Given the description of an element on the screen output the (x, y) to click on. 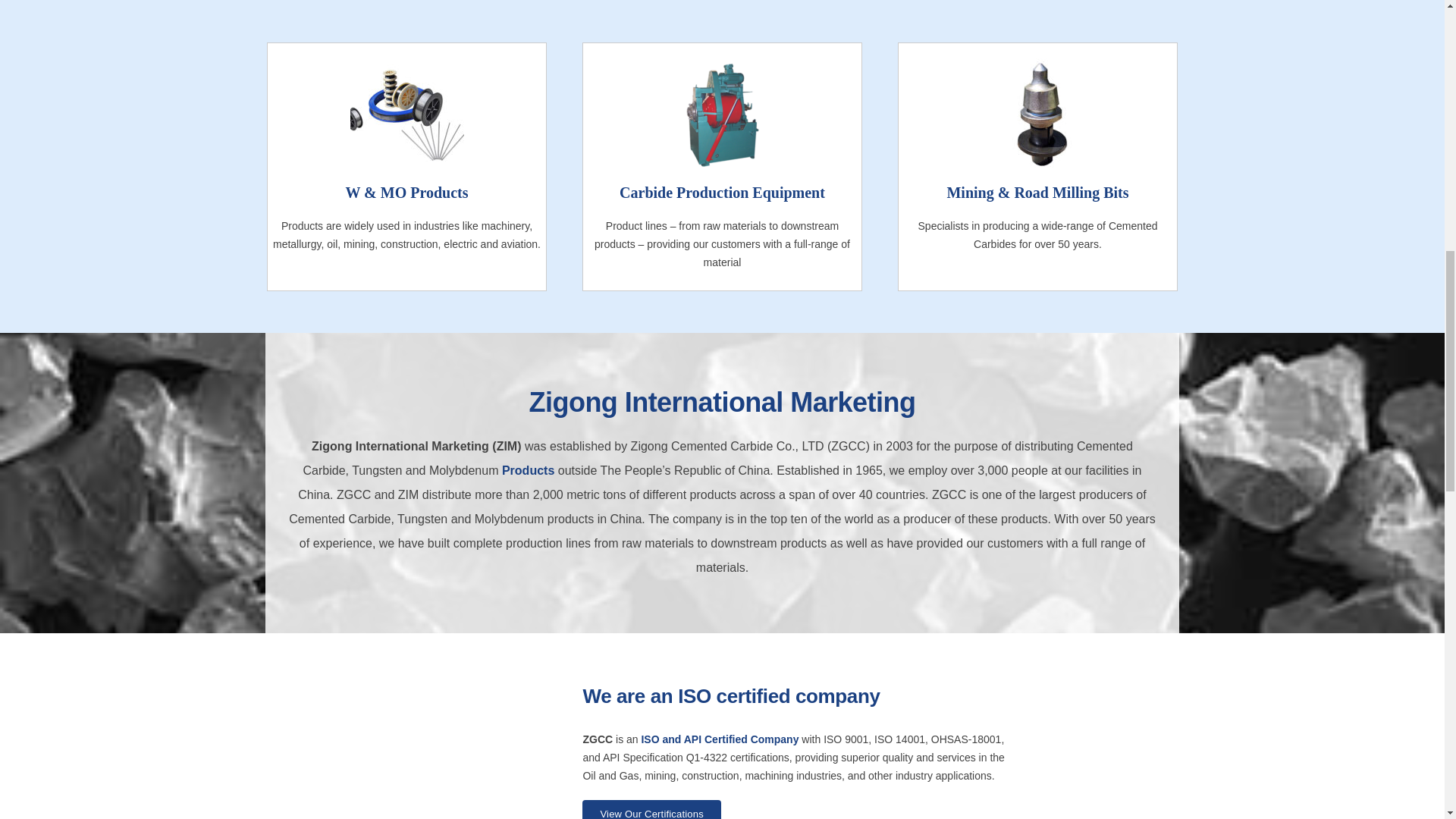
equipment-a (721, 114)
mining-front-page (1037, 114)
w-mo-products-homepage (407, 114)
